Given the description of an element on the screen output the (x, y) to click on. 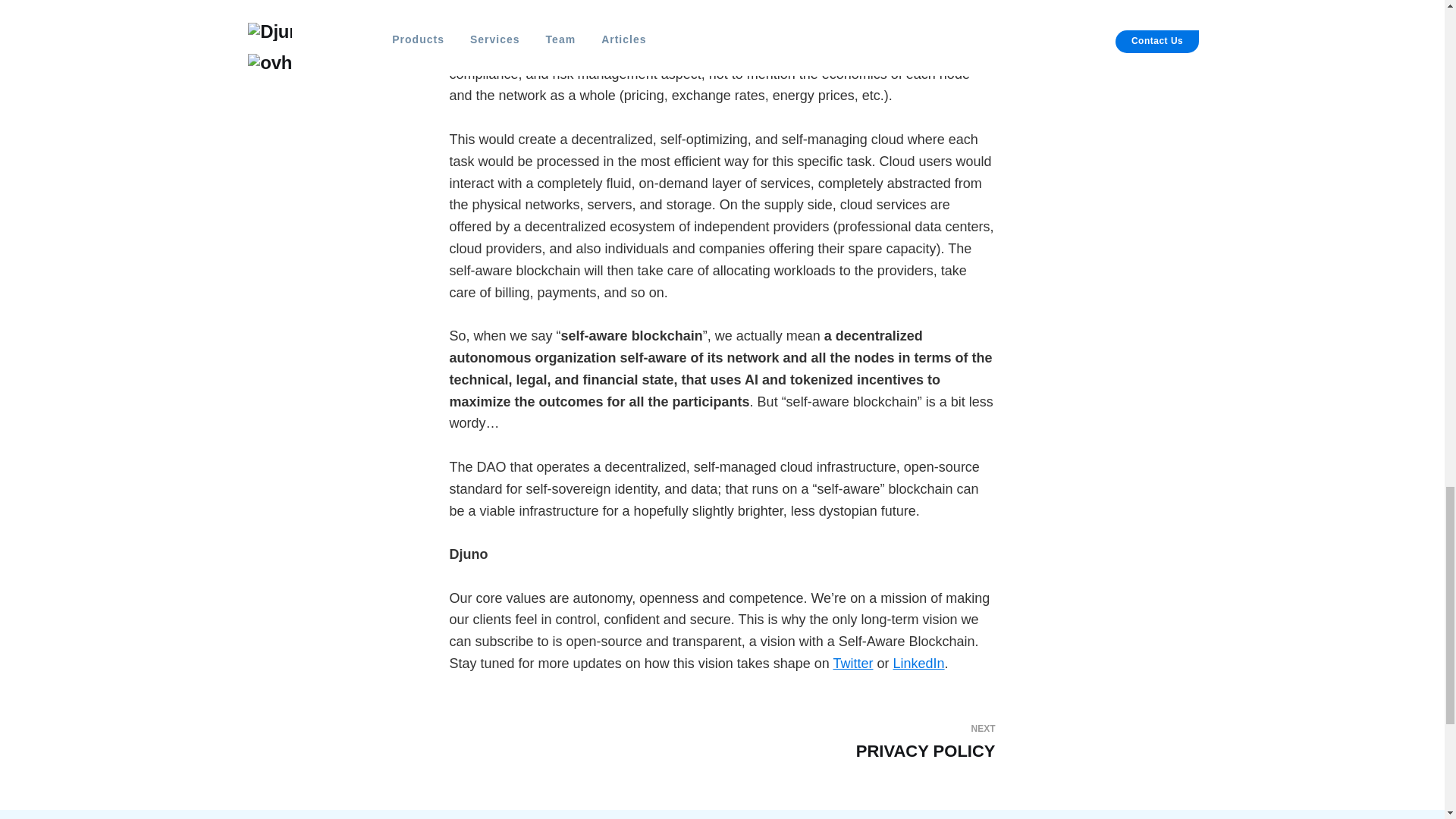
Twitter (852, 663)
LinkedIn (918, 663)
